Given the description of an element on the screen output the (x, y) to click on. 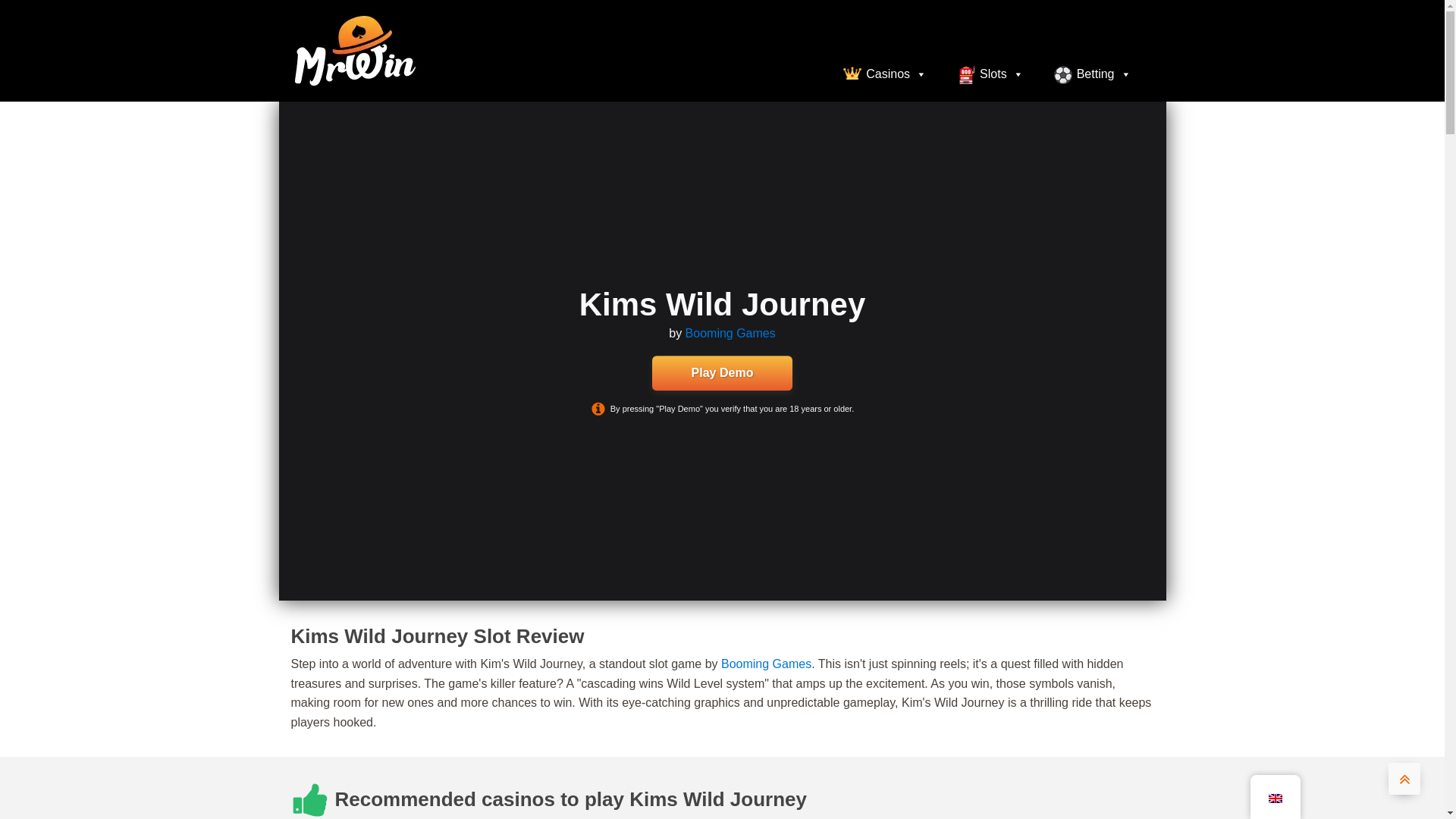
Betting (1092, 73)
Booming Games (765, 663)
Casinos (884, 73)
Booming Games (730, 333)
Slots (989, 73)
English (1274, 798)
